Given the description of an element on the screen output the (x, y) to click on. 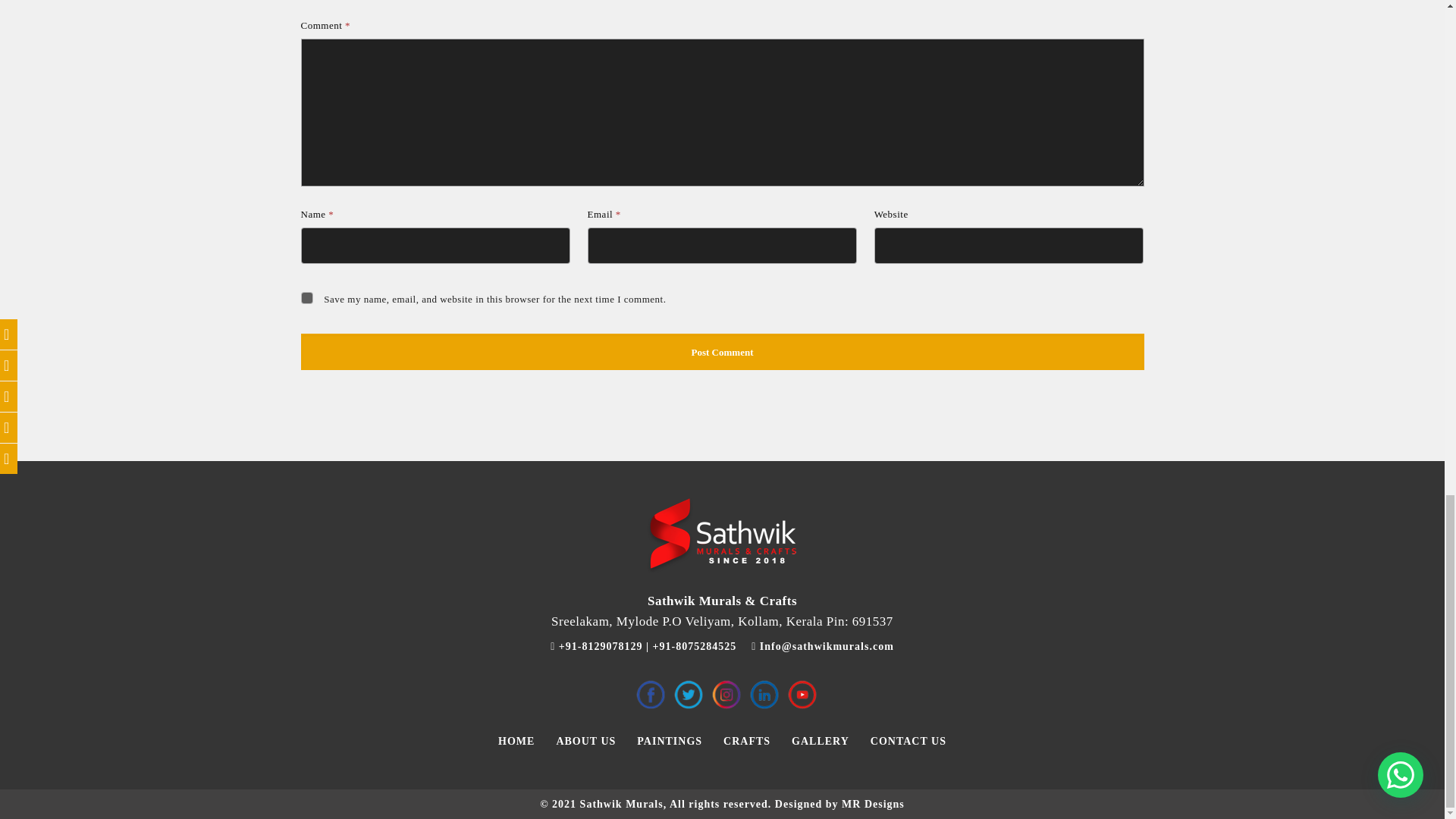
yes (306, 297)
Facebook (649, 694)
Youtube (801, 694)
Post Comment (720, 351)
Twitter (687, 694)
Instagram (726, 694)
Linkedin (763, 694)
